Given the description of an element on the screen output the (x, y) to click on. 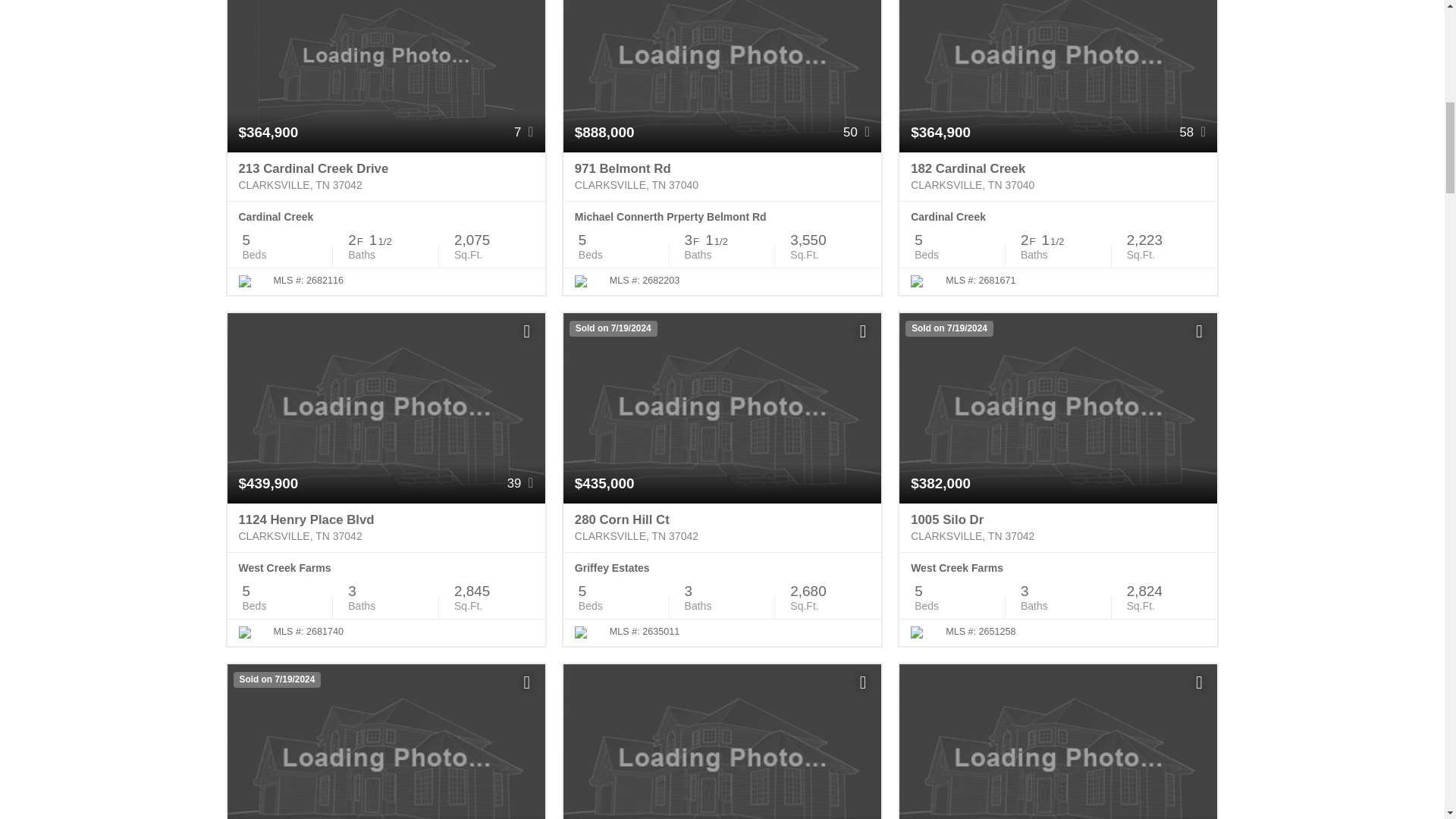
182 Cardinal Creek Clarksville,  TN 37040 (1058, 176)
971 Belmont Rd Clarksville,  TN 37040 (721, 176)
213 Cardinal Creek Drive Clarksville,  TN 37042 (385, 176)
1124 Henry Place Blvd Clarksville,  TN 37042 (385, 527)
